Given the description of an element on the screen output the (x, y) to click on. 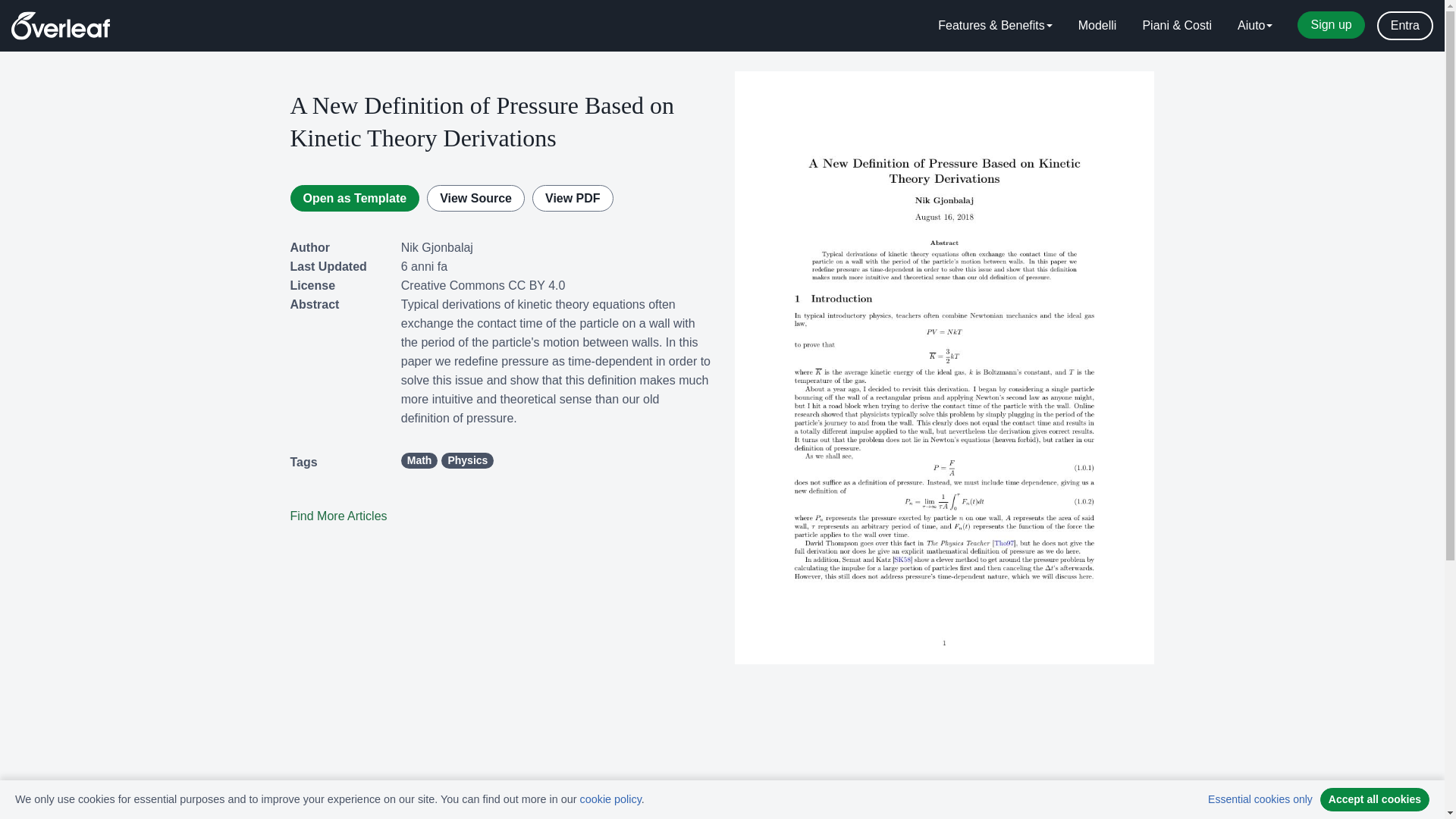
View Source (475, 198)
Aiuto (1254, 25)
Sign up (1330, 24)
Open as Template (354, 198)
Modelli (1097, 25)
Find More Articles (338, 515)
View PDF (572, 198)
Math (419, 460)
Physics (467, 460)
Entra (1404, 25)
